Given the description of an element on the screen output the (x, y) to click on. 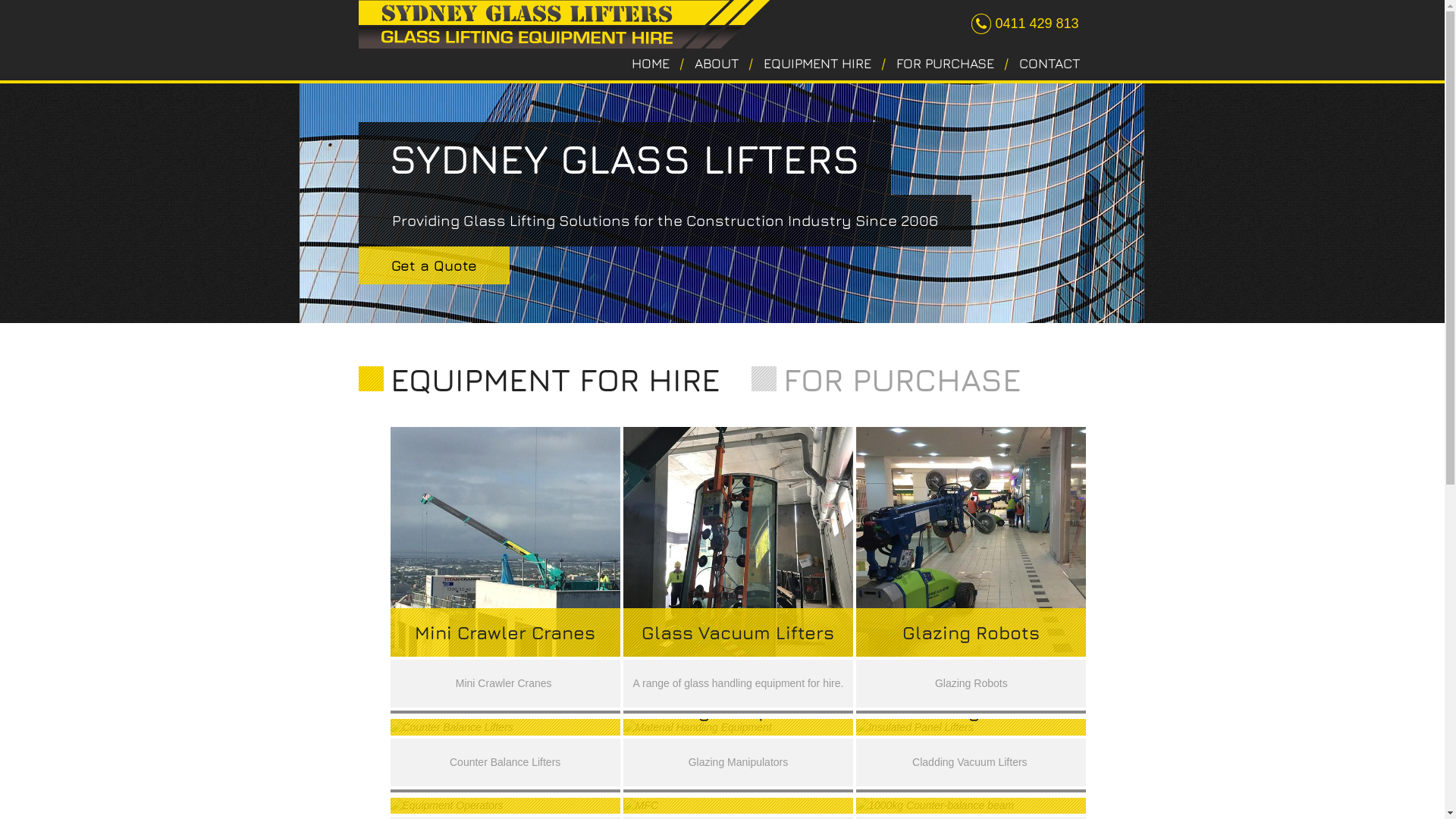
Get a Quote Element type: text (433, 265)
EQUIPMENT HIRE Element type: text (817, 63)
FOR PURCHASE Element type: text (945, 63)
ABOUT Element type: text (716, 63)
Glazing Manipulators
Glazing Manipulators Element type: text (738, 752)
CONTACT Element type: text (1049, 63)
FOR PURCHASE Element type: text (885, 378)
Mini Crawler Cranes
Mini Crawler Cranes  Element type: text (504, 566)
Glazing Robots
Glazing Robots Element type: text (970, 566)
EQUIPMENT FOR HIRE Element type: text (538, 378)
0411 429 813 Element type: text (1036, 23)
HOME Element type: text (650, 63)
Counter Balance Lifters
Counter Balance Lifters Element type: text (504, 752)
Cladding Lifters
Cladding Vacuum Lifters  Element type: text (970, 752)
